Given the description of an element on the screen output the (x, y) to click on. 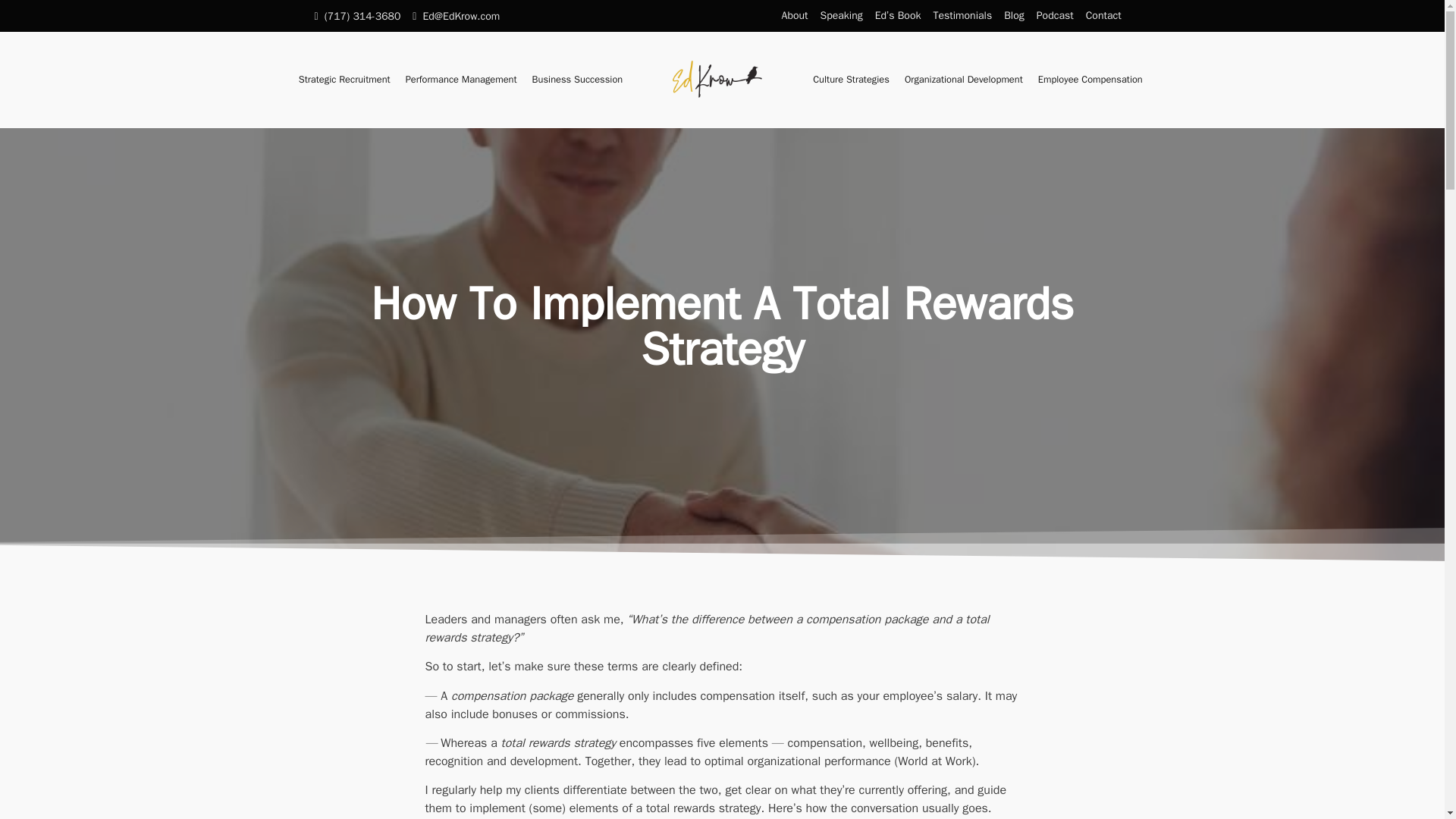
Organizational Development (963, 79)
Strategic Recruitment (344, 79)
Blog (1013, 15)
Podcast (1055, 15)
Speaking (841, 15)
Employee Compensation (1090, 79)
Performance Management (460, 79)
Culture Strategies (850, 79)
Contact (1103, 15)
Testimonials (961, 15)
